Given the description of an element on the screen output the (x, y) to click on. 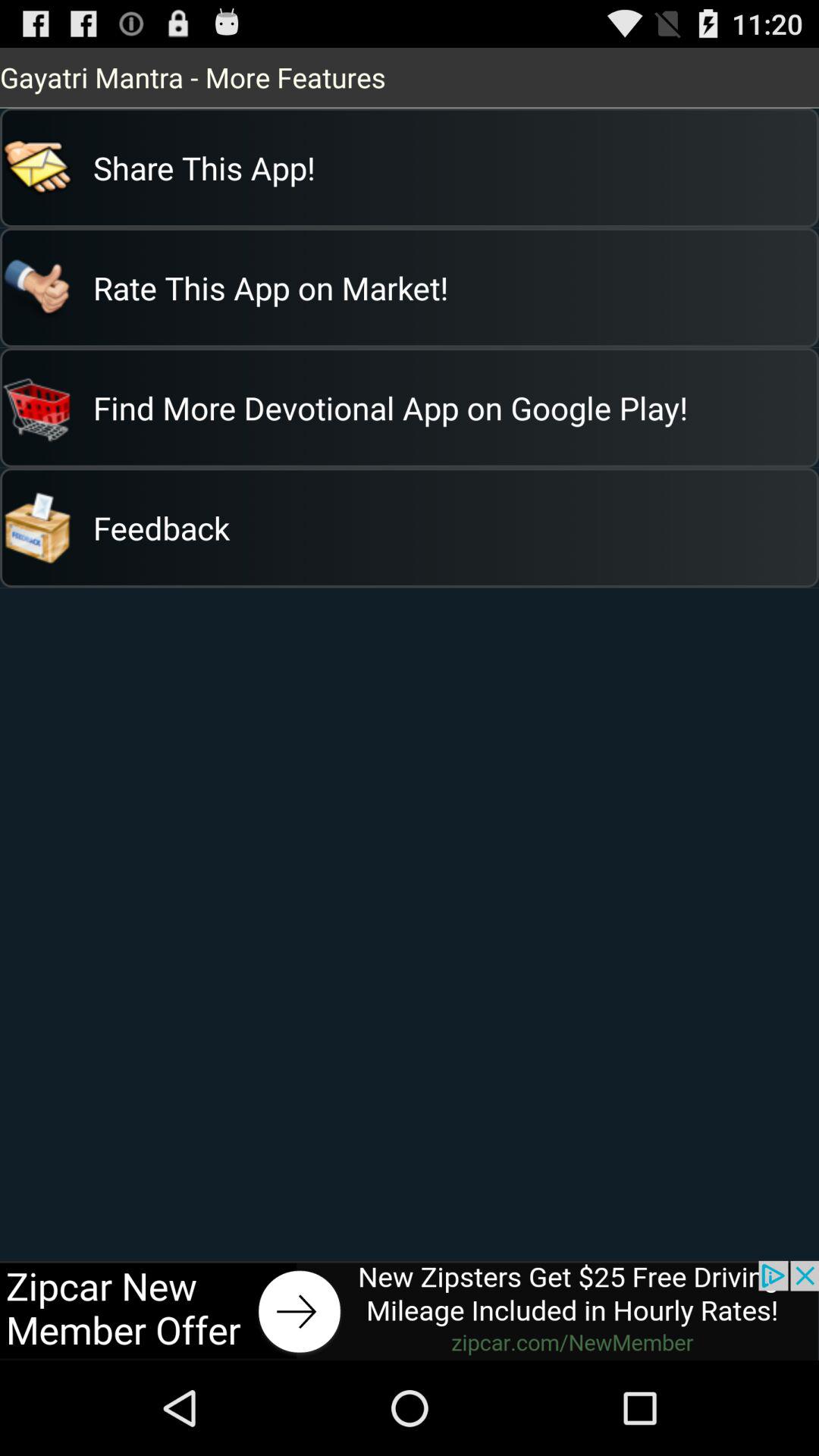
know about the advertisement (409, 1310)
